Given the description of an element on the screen output the (x, y) to click on. 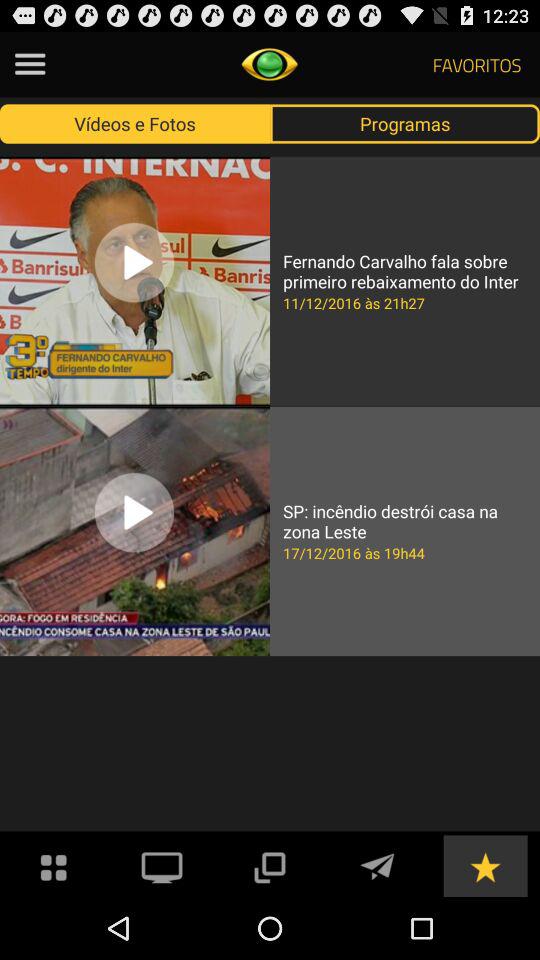
mark as important (485, 865)
